Given the description of an element on the screen output the (x, y) to click on. 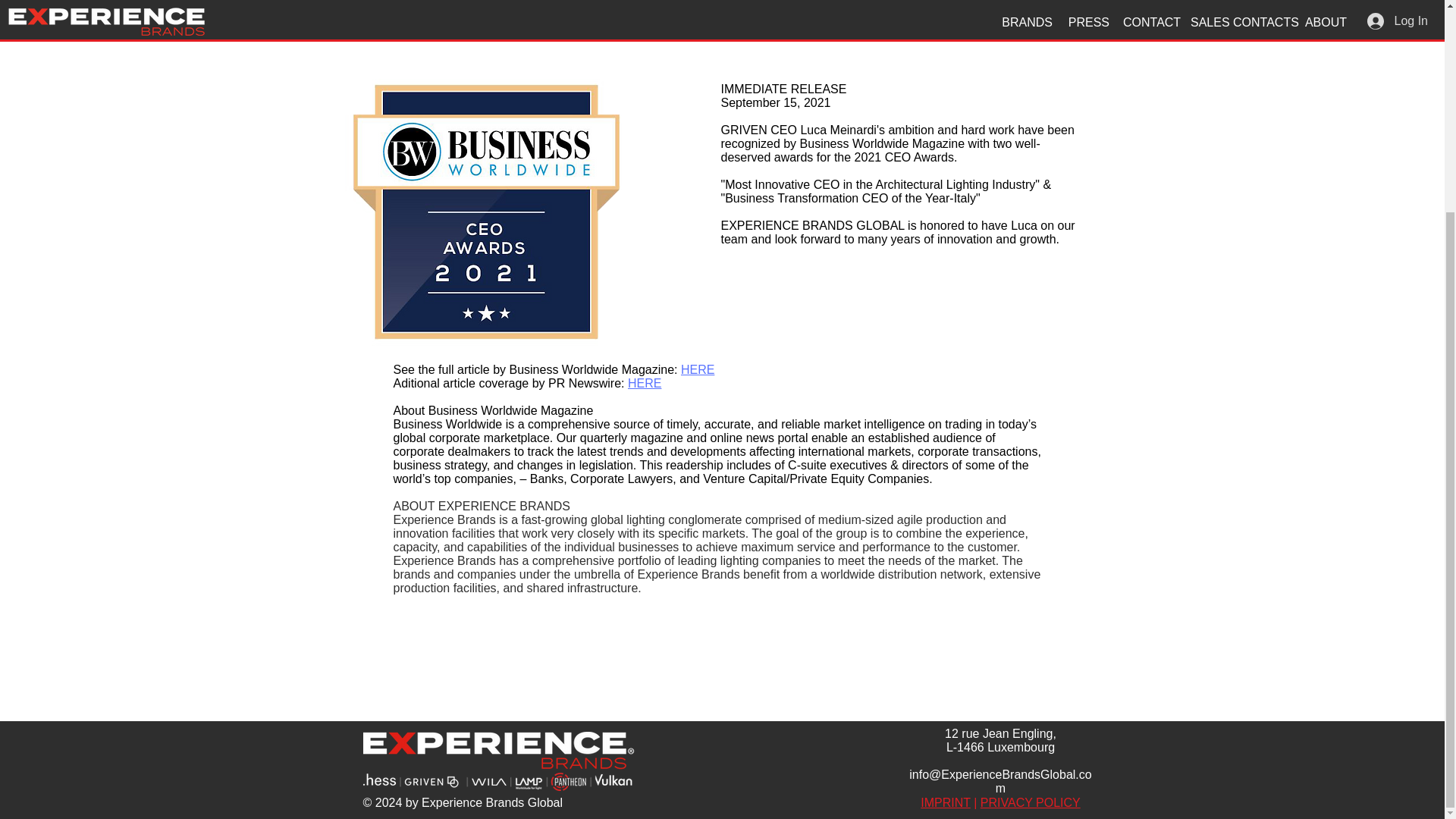
HERE (644, 382)
PRIVACY POLICY (1029, 802)
IMPRINT (944, 802)
HERE (697, 369)
